Given the description of an element on the screen output the (x, y) to click on. 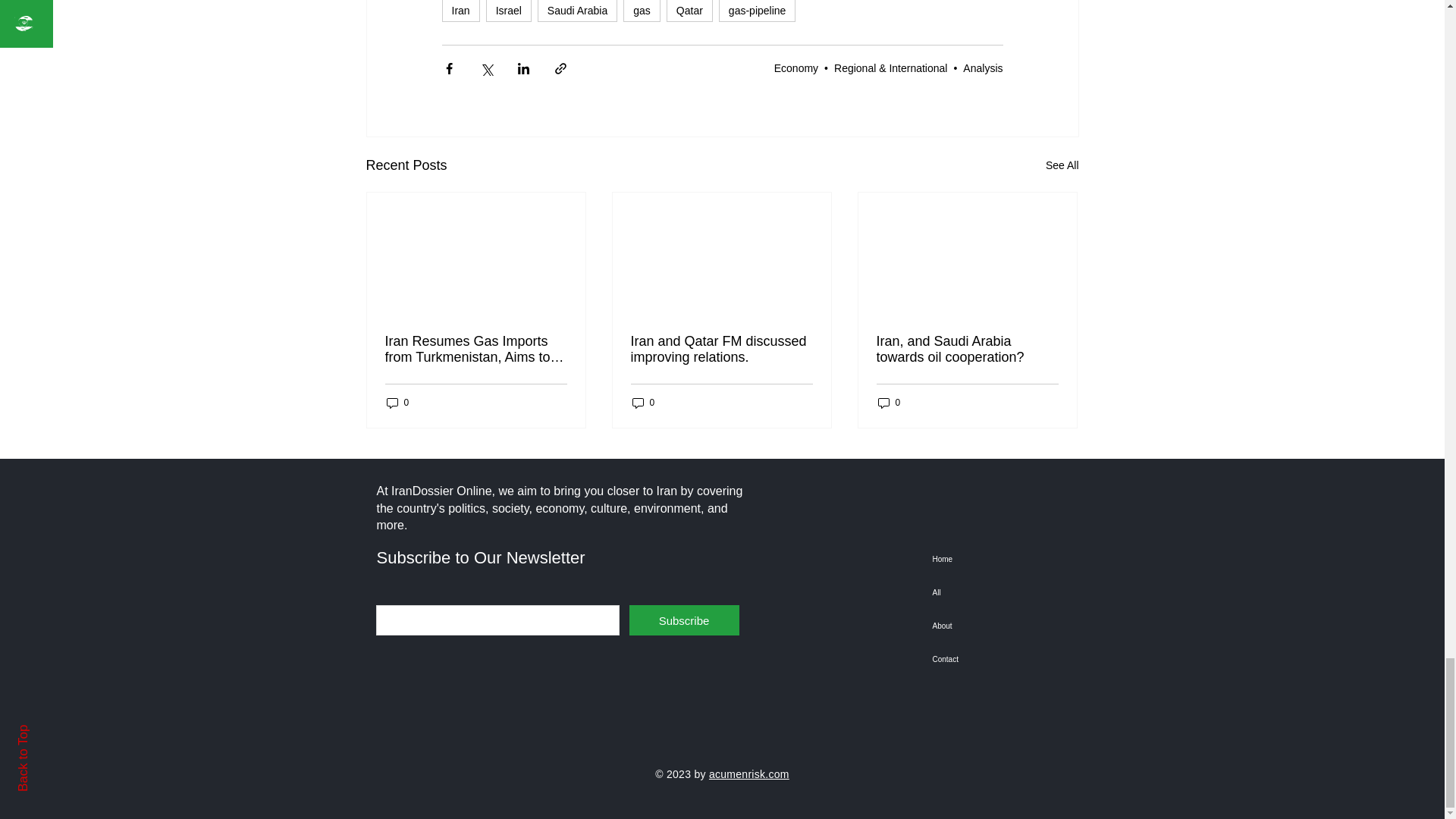
Iran and Qatar FM discussed improving relations. (721, 349)
gas-pipeline (757, 11)
See All (1061, 165)
gas (642, 11)
0 (397, 402)
Analysis (982, 68)
Qatar (689, 11)
Iran (460, 11)
Saudi Arabia (577, 11)
